Given the description of an element on the screen output the (x, y) to click on. 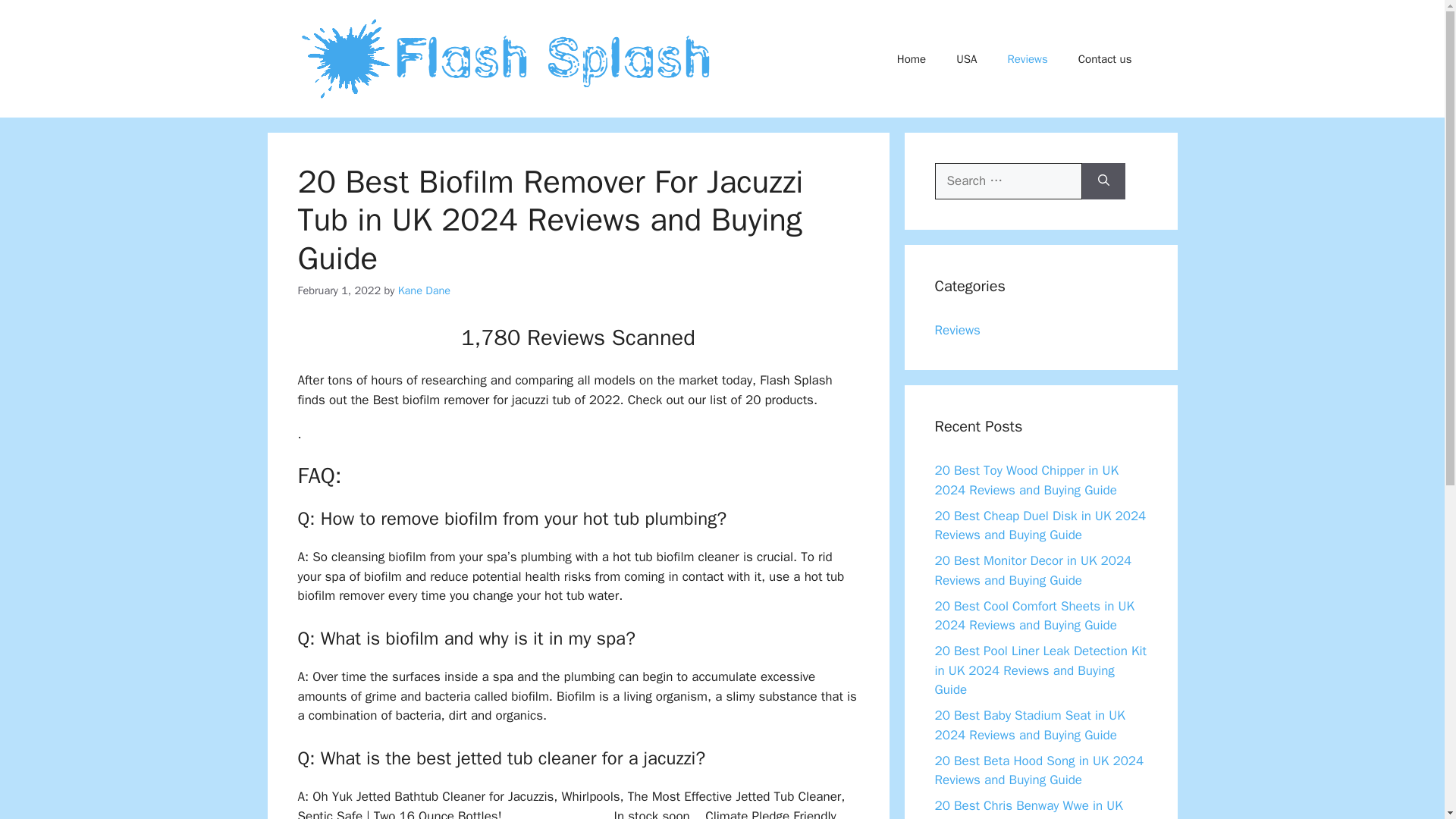
Contact us (1104, 58)
Home (911, 58)
20 Best Toy Wood Chipper in UK 2024 Reviews and Buying Guide (1026, 479)
Kane Dane (423, 290)
20 Best Beta Hood Song in UK 2024 Reviews and Buying Guide (1038, 769)
20 Best Monitor Decor in UK 2024 Reviews and Buying Guide (1032, 570)
Flash Splash (506, 58)
Reviews (1026, 58)
20 Best Chris Benway Wwe in UK 2024 Reviews and Buying Guide (1028, 808)
Flash Splash (506, 57)
20 Best Cheap Duel Disk in UK 2024 Reviews and Buying Guide (1039, 525)
USA (965, 58)
